Given the description of an element on the screen output the (x, y) to click on. 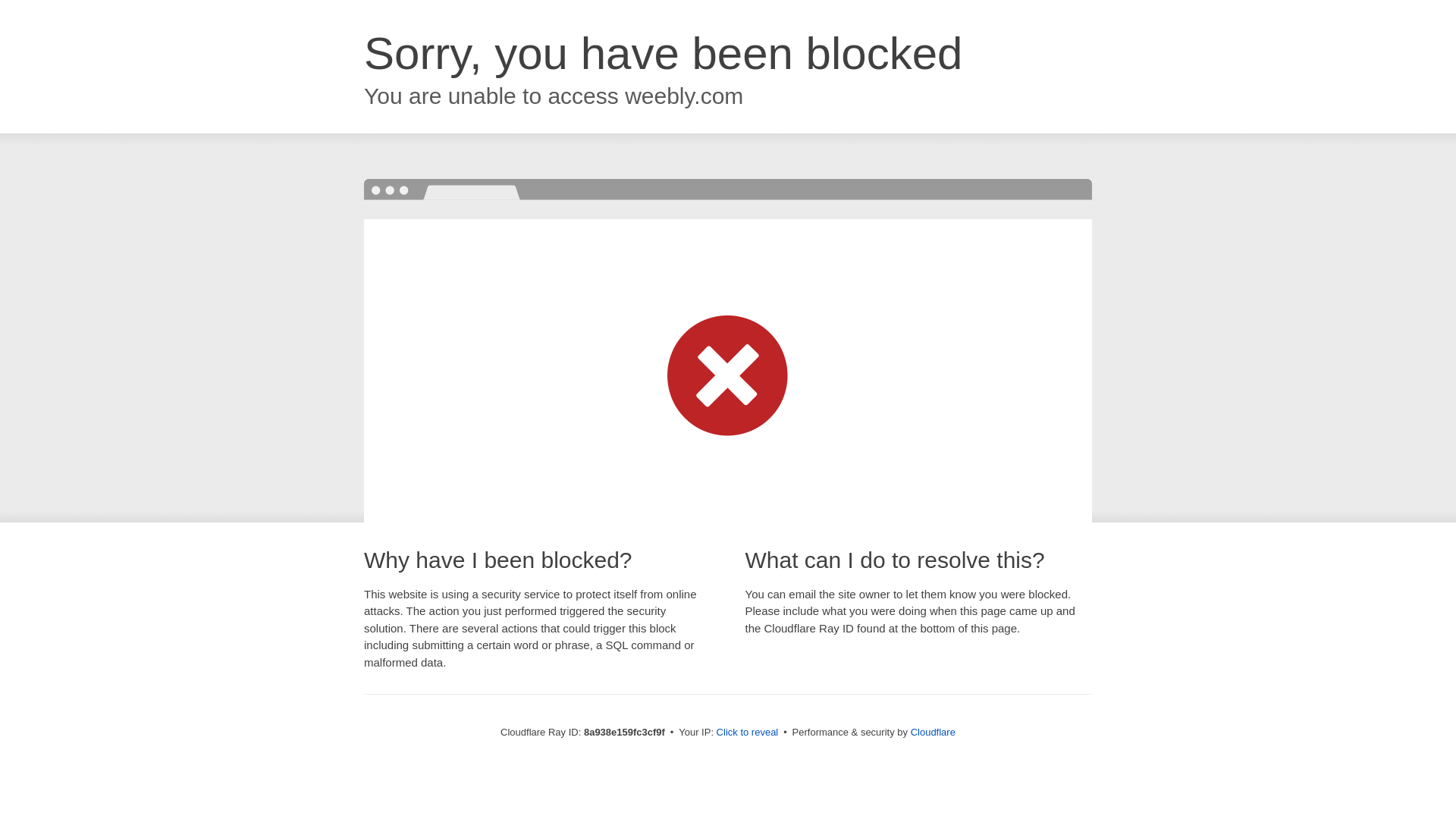
Click to reveal (747, 732)
Cloudflare (933, 731)
